Given the description of an element on the screen output the (x, y) to click on. 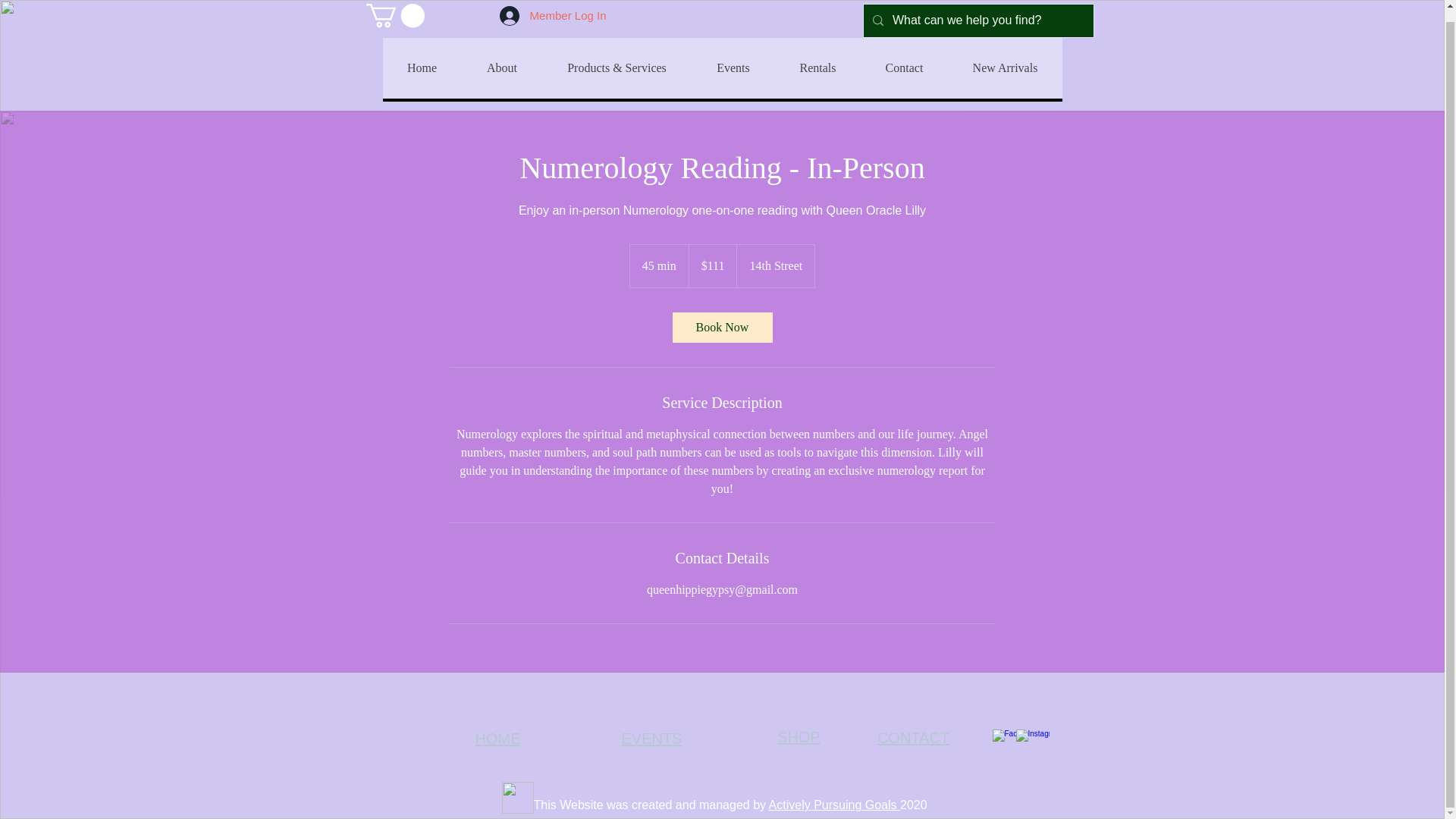
Rentals (817, 67)
Events (732, 67)
EVENTS (651, 738)
Fitness-Logo-Finished.png (518, 798)
SHOP (799, 736)
About (501, 67)
HOME (496, 738)
CONTACT (913, 737)
Book Now (721, 327)
New Arrivals (1004, 67)
